Given the description of an element on the screen output the (x, y) to click on. 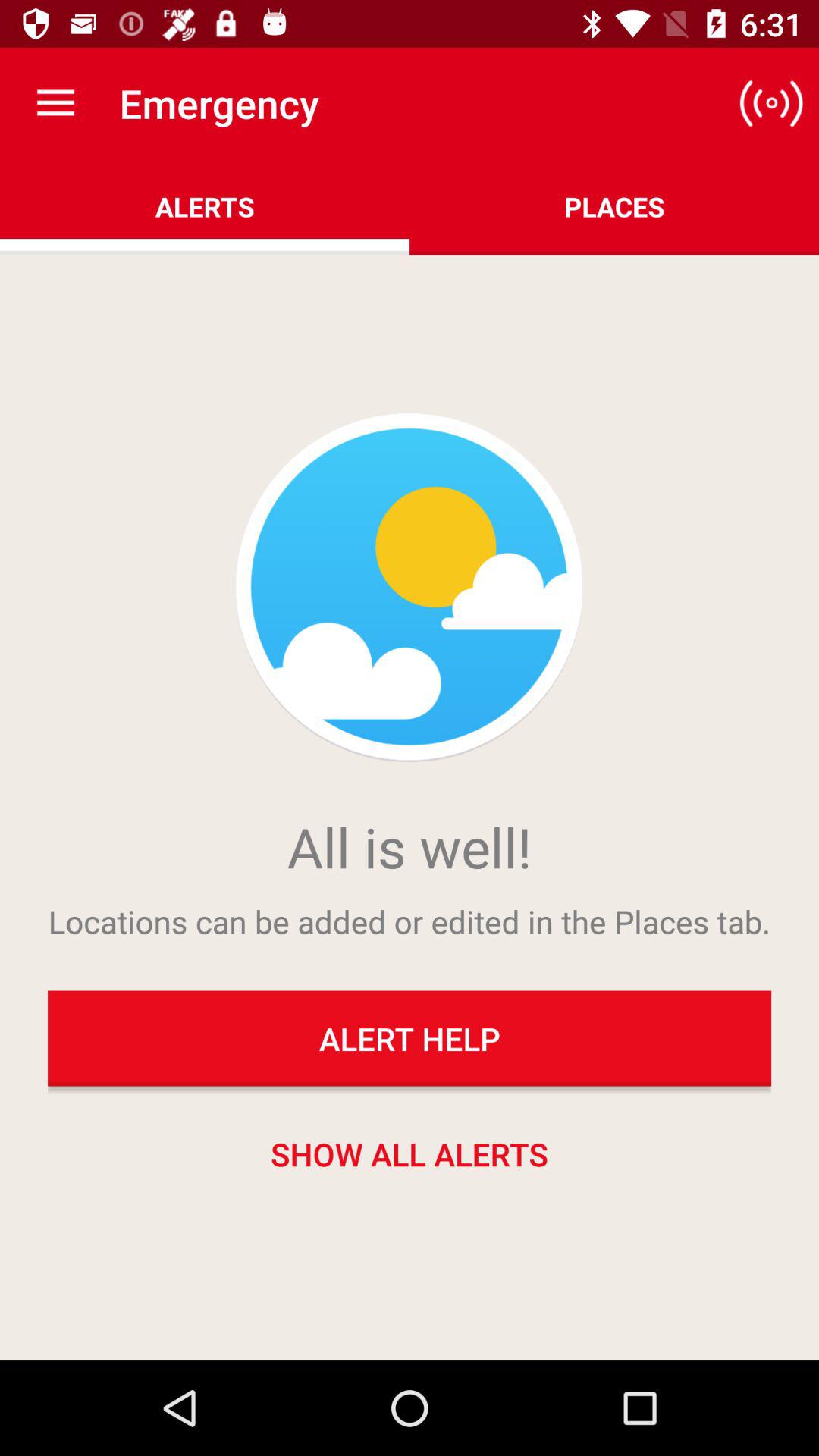
choose item above the alerts icon (55, 103)
